Given the description of an element on the screen output the (x, y) to click on. 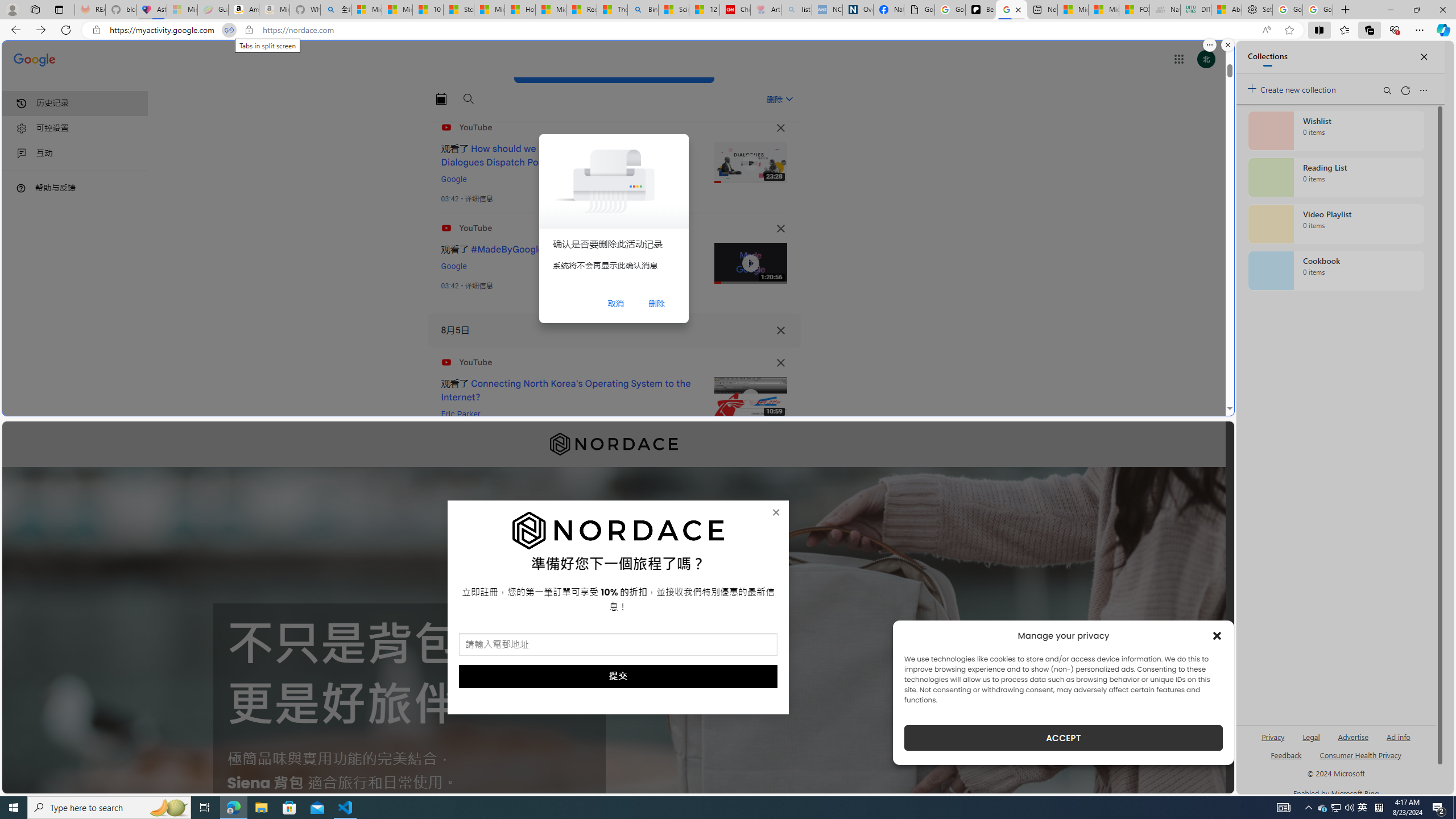
Arthritis: Ask Health Professionals - Sleeping (765, 9)
Class: i2GIId (21, 153)
